Given the description of an element on the screen output the (x, y) to click on. 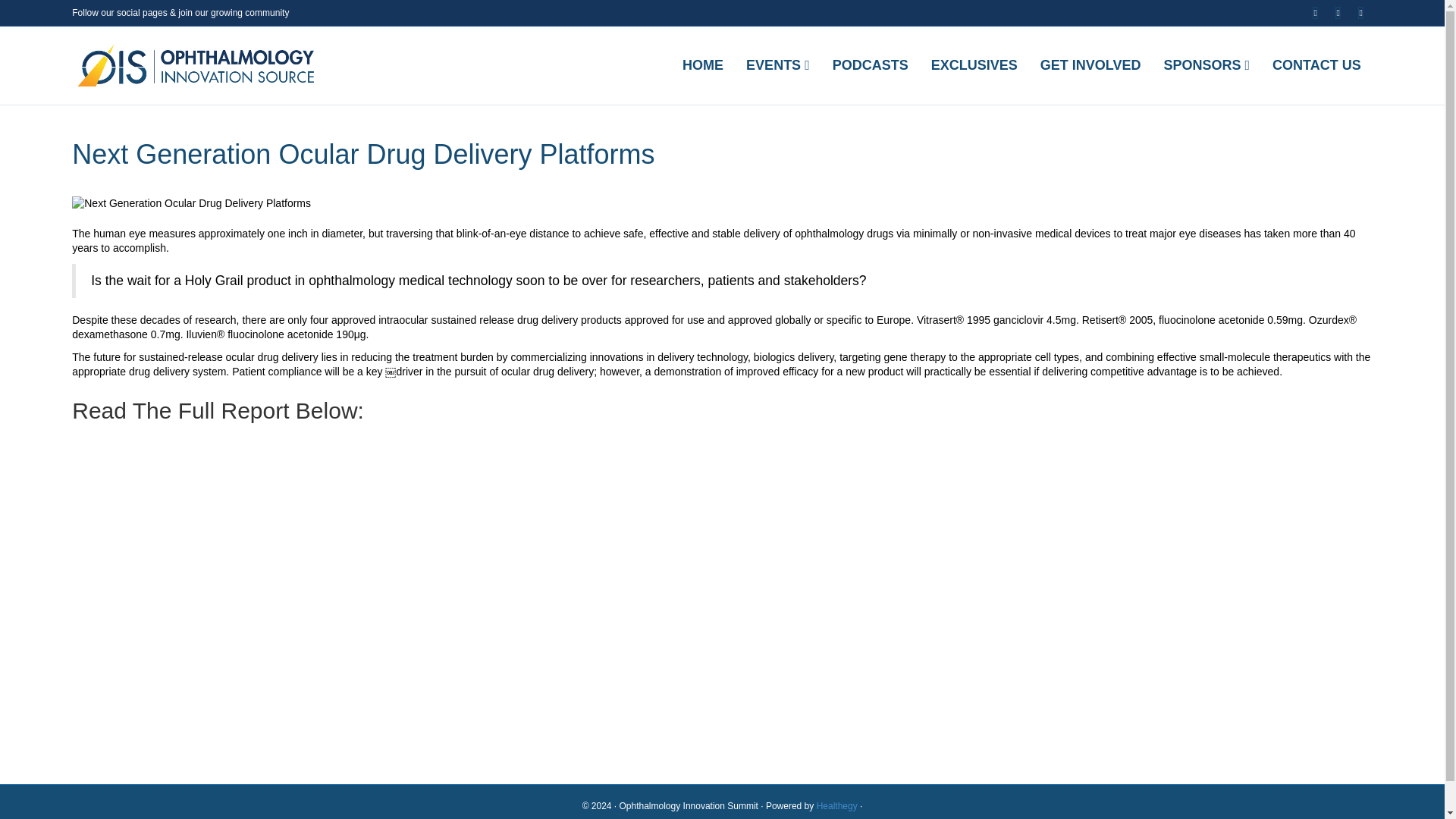
EXCLUSIVES (974, 64)
GET INVOLVED (1091, 64)
HOME (703, 64)
Linkedin (1315, 13)
PODCASTS (870, 64)
EVENTS (778, 65)
CONTACT US (1316, 64)
X-twitter (1361, 13)
Youtube (1337, 13)
Healthegy (836, 805)
SPONSORS (1205, 65)
